Given the description of an element on the screen output the (x, y) to click on. 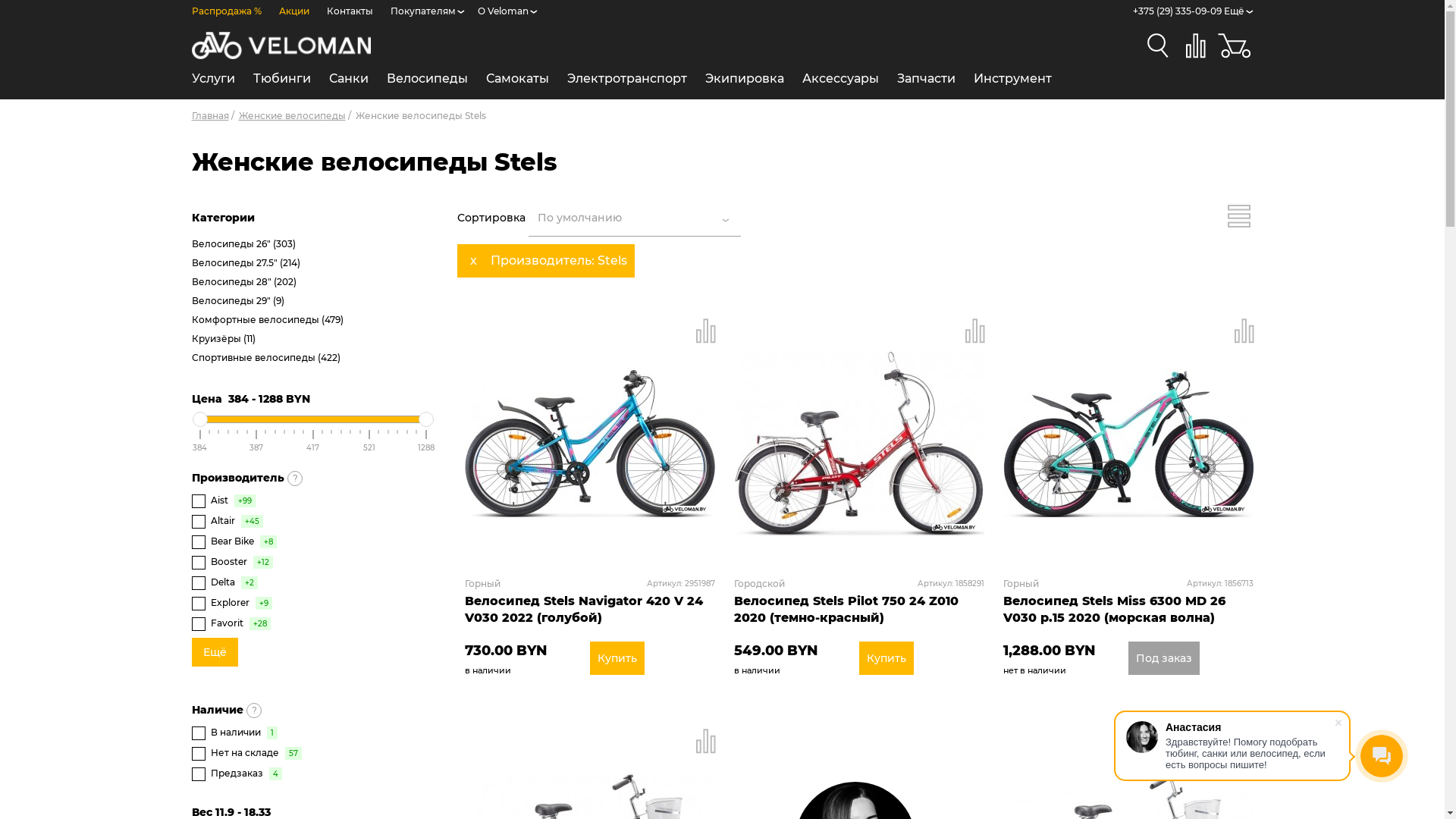
+375 (29) 335-09-09 Element type: text (1176, 10)
